Given the description of an element on the screen output the (x, y) to click on. 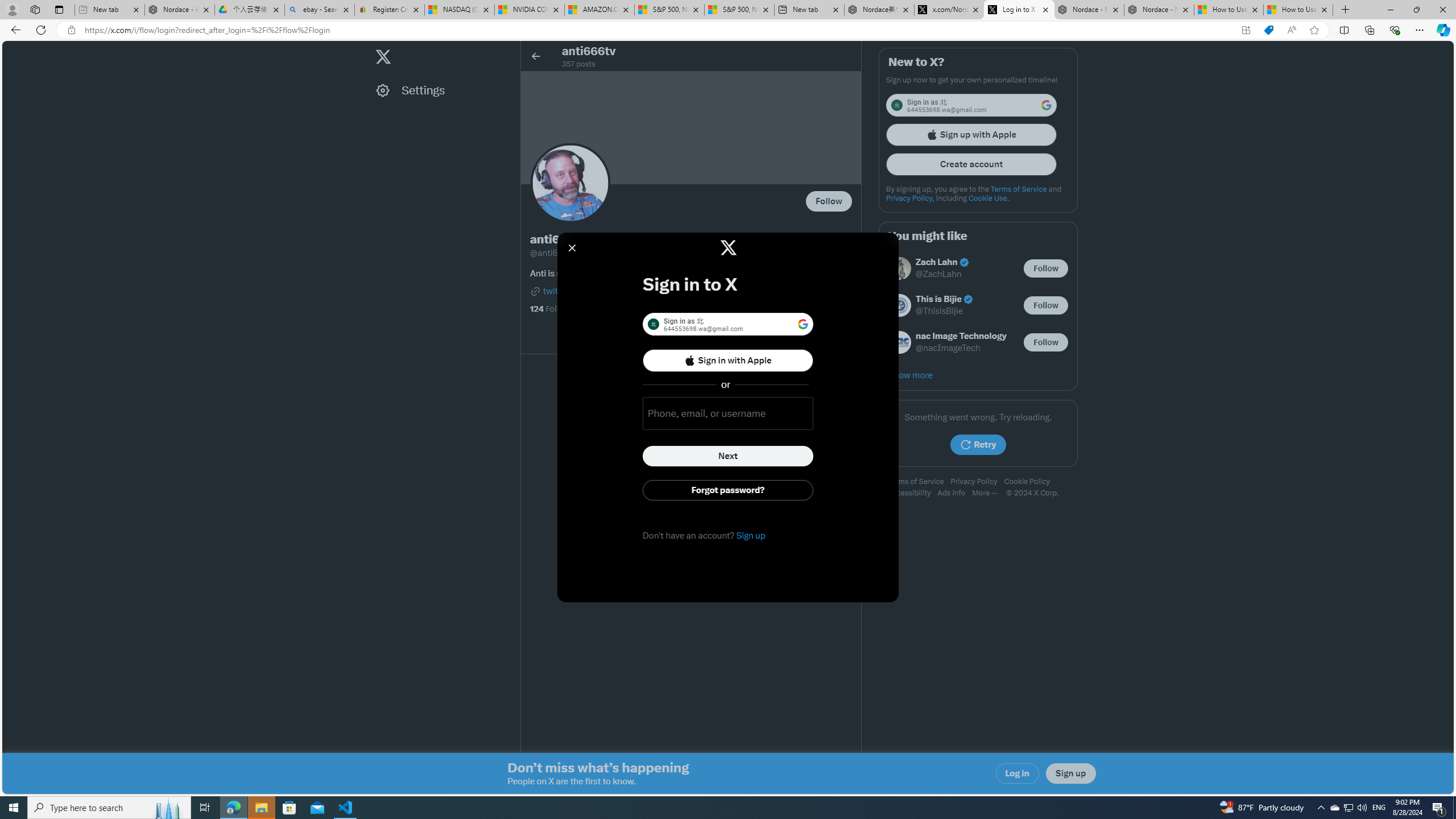
Settings and more (Alt+F) (1419, 29)
S&P 500, Nasdaq end lower, weighed by Nvidia dip | Watch (738, 9)
Read aloud this page (Ctrl+Shift+U) (1291, 29)
Back (13, 29)
Close tab (1324, 9)
x.com/NordaceOfficial (949, 9)
ebay - Search (319, 9)
App bar (728, 29)
Restore (1416, 9)
Log in (1017, 773)
Close (1442, 9)
Copilot (Ctrl+Shift+.) (1442, 29)
